Given the description of an element on the screen output the (x, y) to click on. 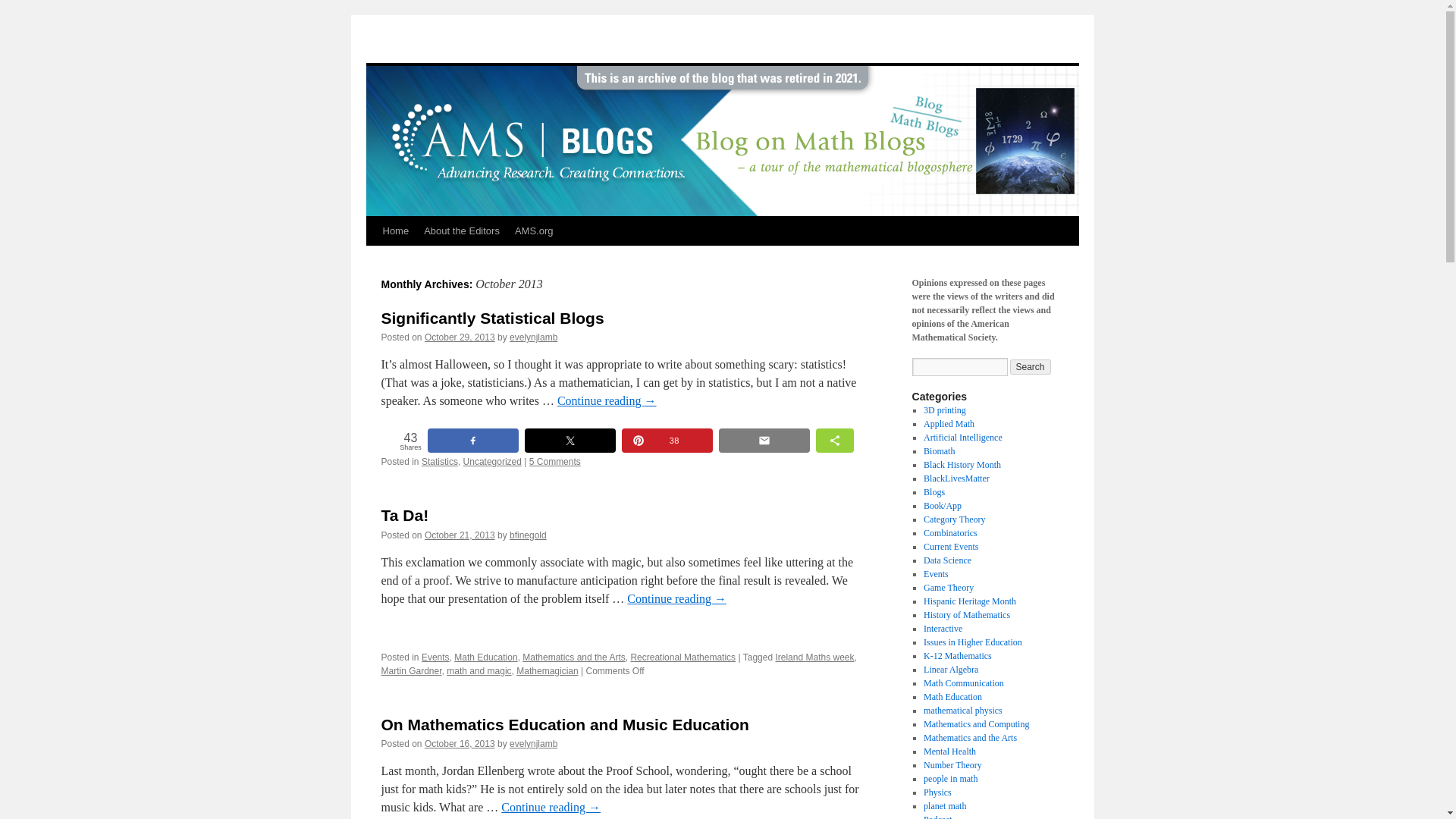
bfinegold (528, 534)
2:24 am (460, 534)
3D printing (944, 409)
View all posts by evelynjlamb (533, 337)
Statistics (440, 461)
Martin Gardner (410, 670)
math and magic (478, 670)
Uncategorized (492, 461)
evelynjlamb (533, 337)
evelynjlamb (533, 743)
